Given the description of an element on the screen output the (x, y) to click on. 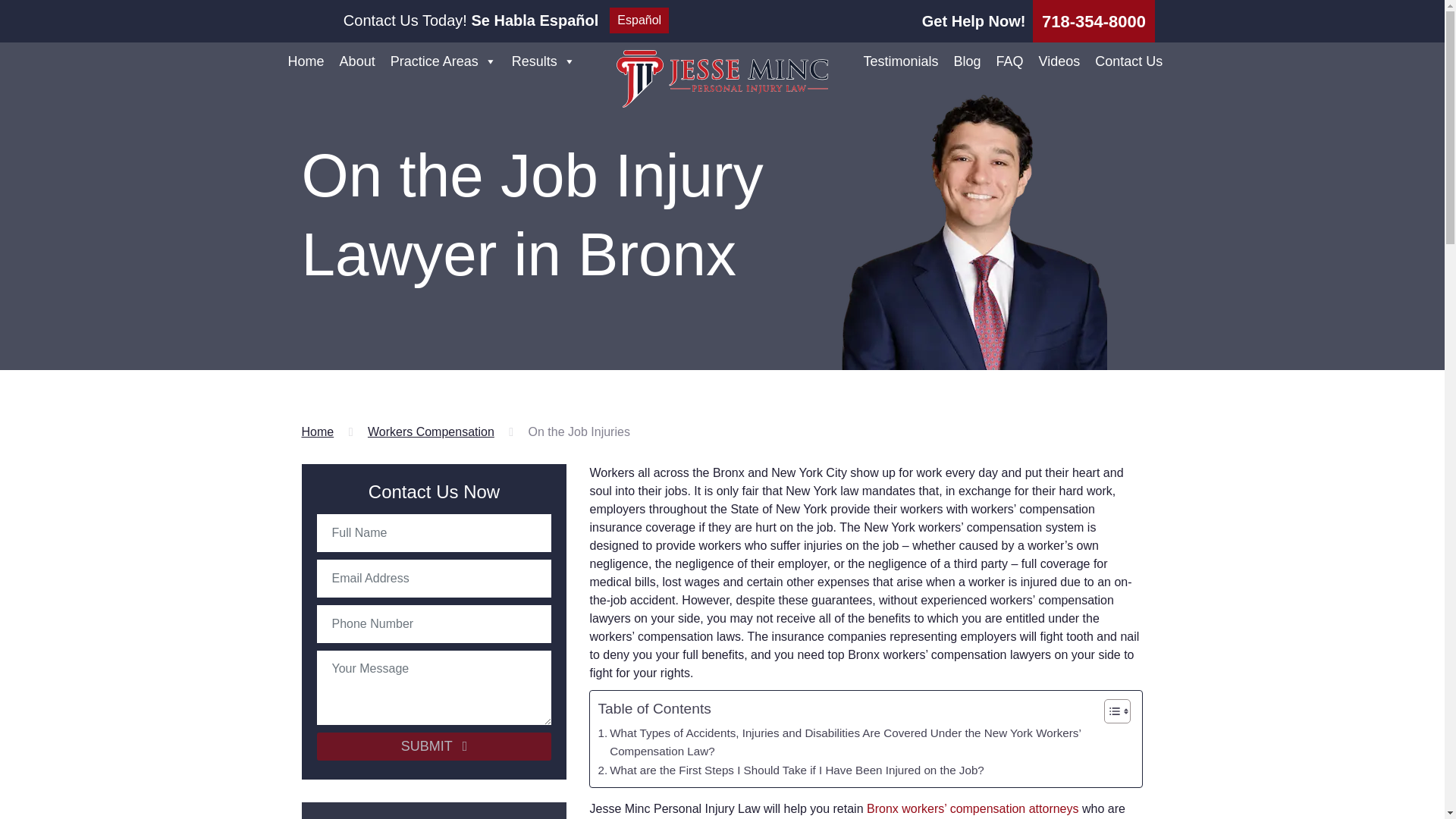
Click to Submit (434, 746)
Jesse Minc Personal Injury Law (721, 78)
Free Consultation (1093, 21)
718-354-8000 (1093, 21)
